Given the description of an element on the screen output the (x, y) to click on. 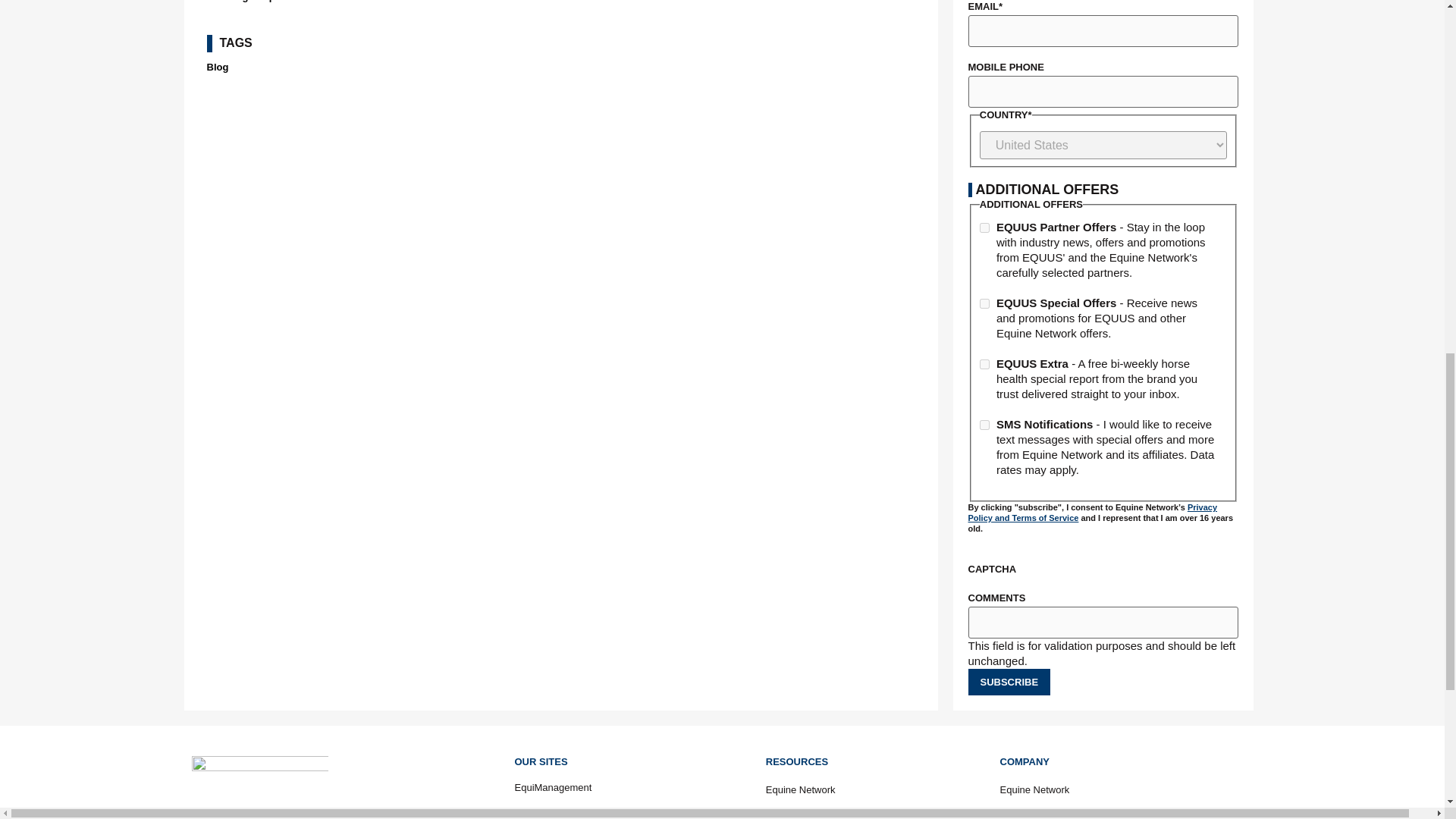
0cd2e389-c43e-4146-b3bb-59ab437fd8f4 (984, 364)
591f5baa-e9c3-40bf-bf02-f5923680caa3 (984, 303)
SMS Notifications (984, 424)
52f26a8f-e5be-4237-a9cb-227d8912a511 (984, 227)
Subscribe (1008, 682)
